Given the description of an element on the screen output the (x, y) to click on. 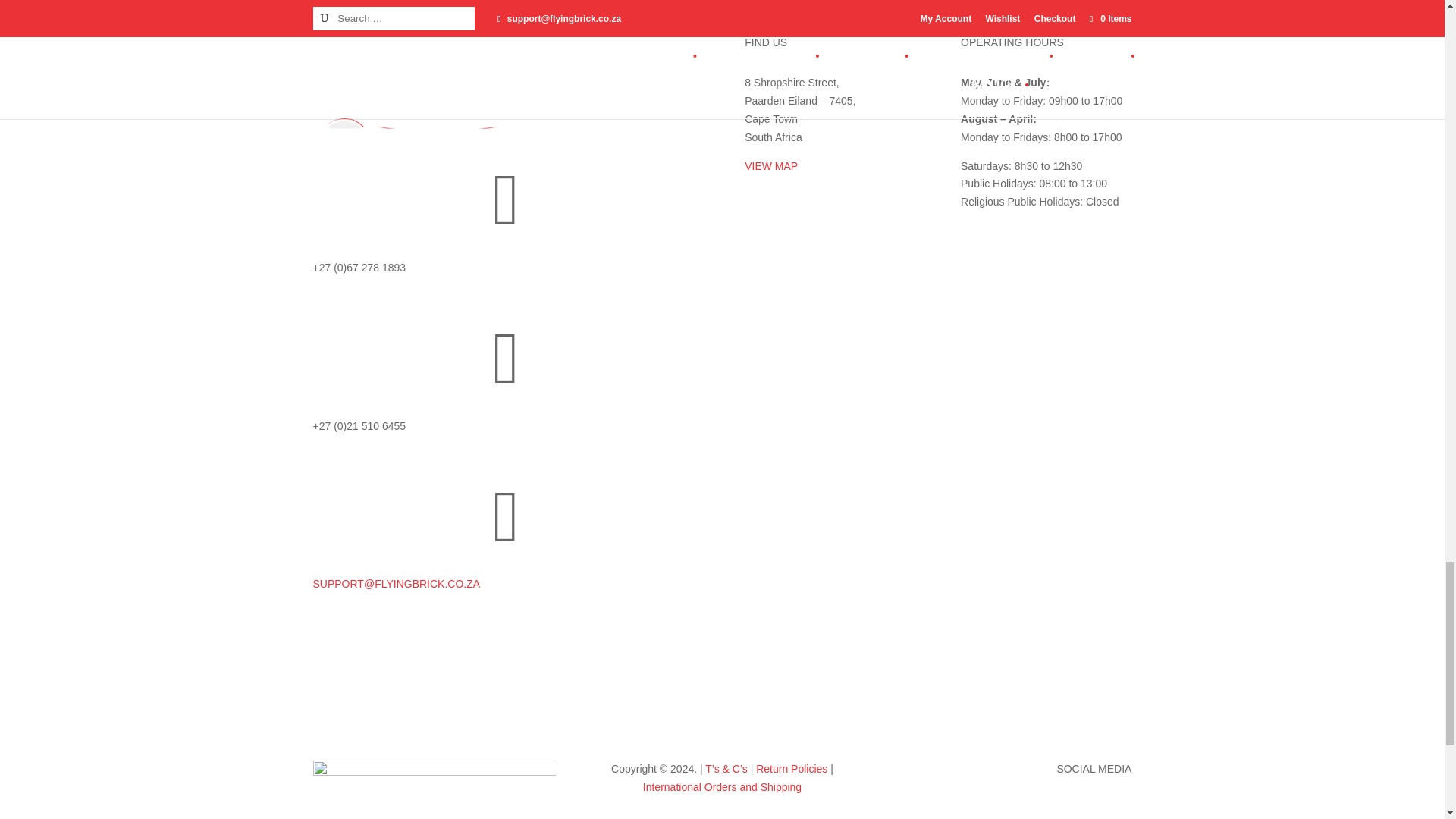
Follow on Facebook (979, 810)
Follow on Youtube (1039, 810)
footer-logo (433, 789)
Follow on Instagram (1009, 810)
